Given the description of an element on the screen output the (x, y) to click on. 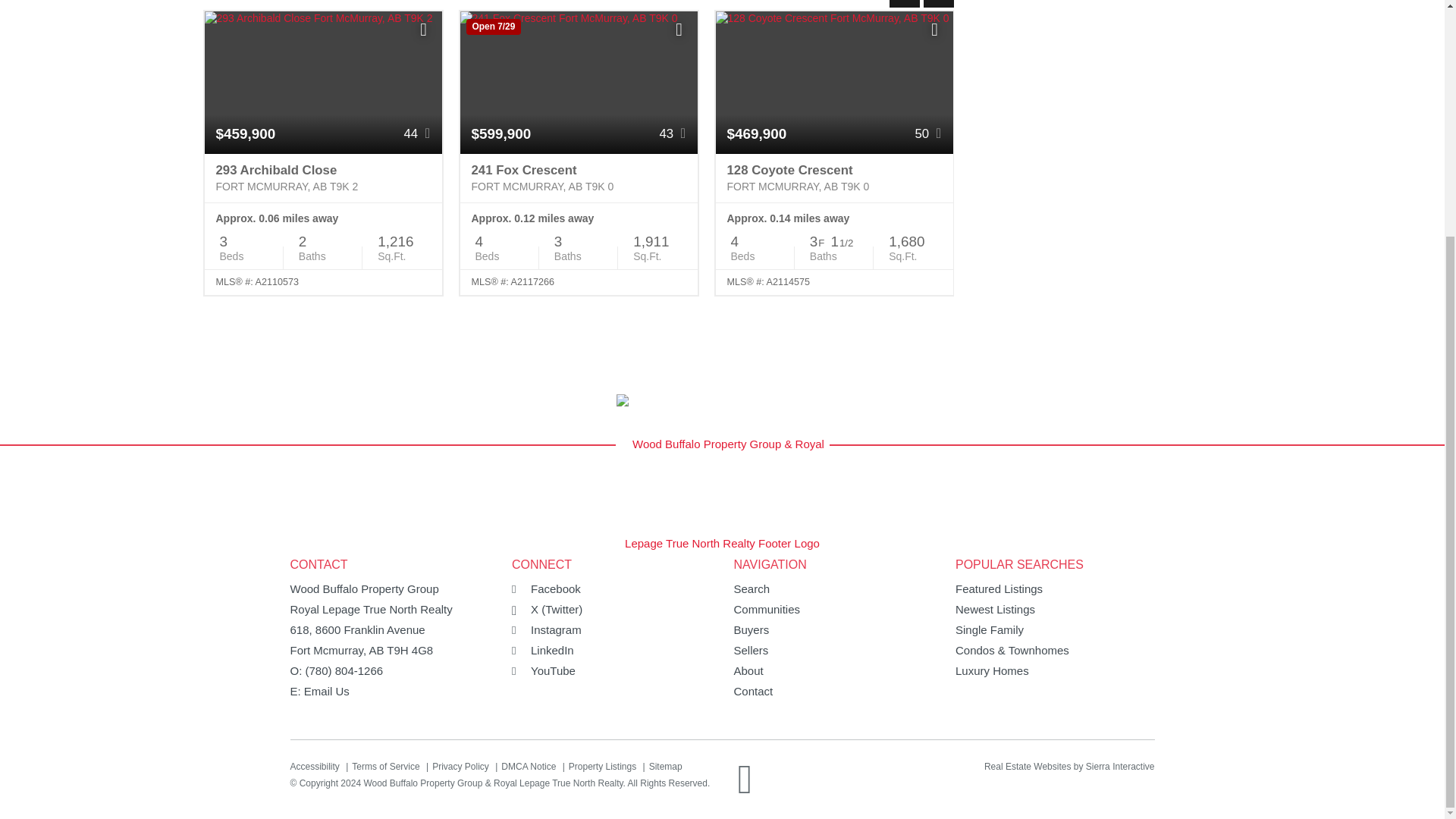
293 Archibald Close Fort McMurray,  AB T9K 2 (323, 178)
